Given the description of an element on the screen output the (x, y) to click on. 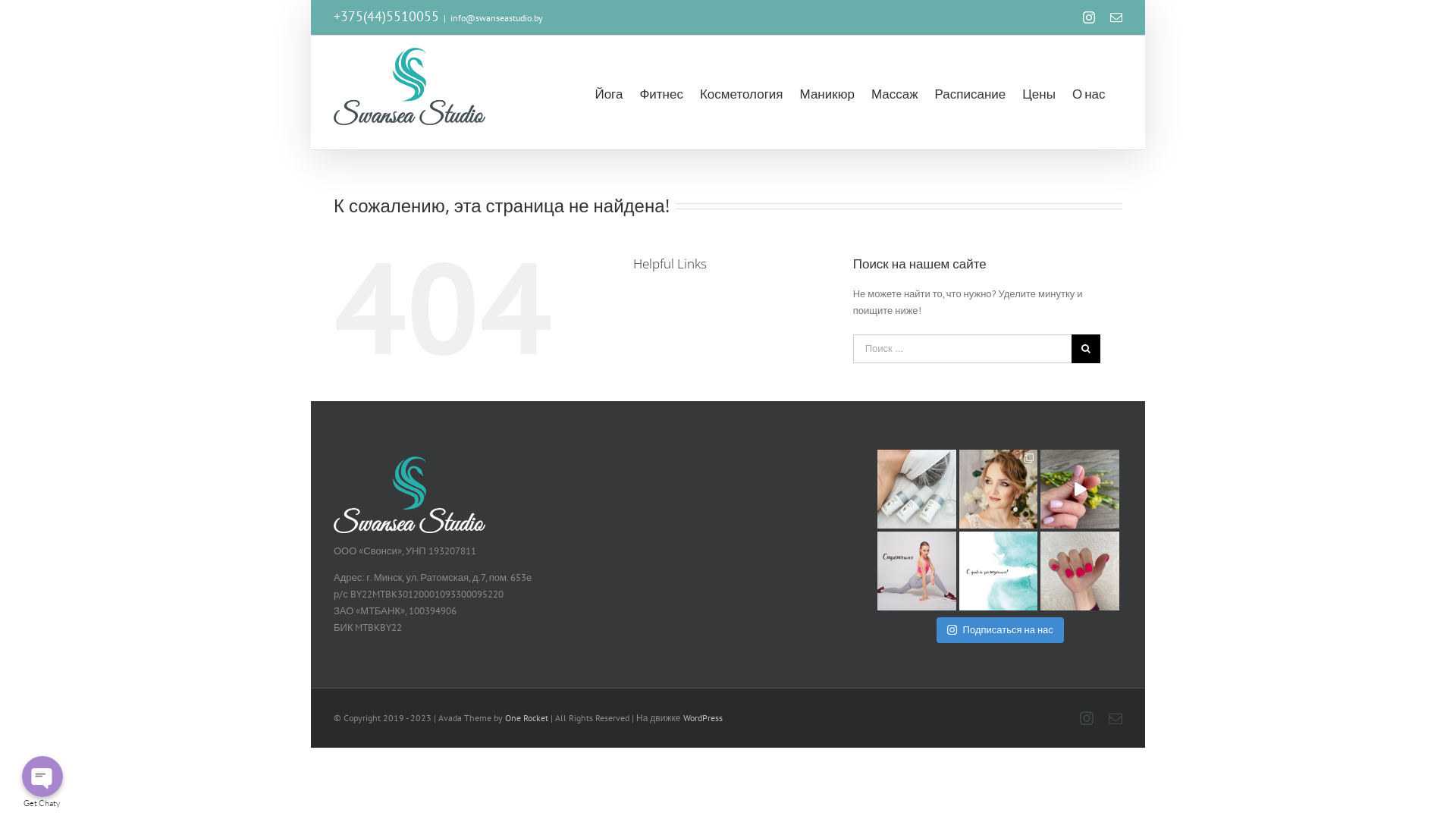
Get Chaty Element type: text (41, 803)
Email Element type: text (1115, 717)
Instagram Element type: text (1086, 717)
+375(44)5510055 Element type: text (386, 17)
Instagram Element type: text (1088, 17)
WordPress Element type: text (702, 717)
Email Element type: text (1116, 17)
One Rocket Element type: text (526, 717)
info@swanseastudio.by Element type: text (496, 17)
